Given the description of an element on the screen output the (x, y) to click on. 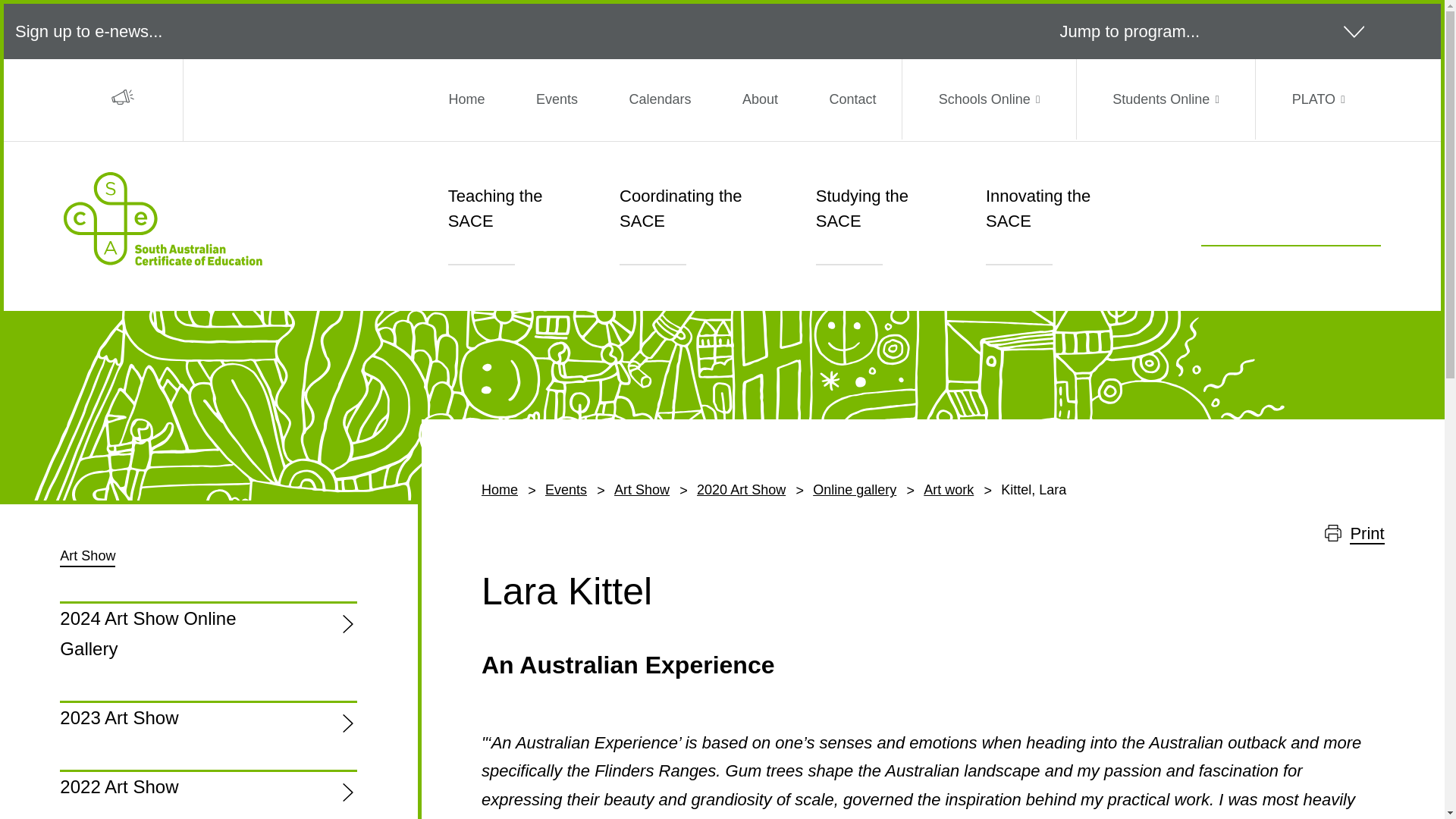
print (1332, 532)
alert (122, 96)
